Given the description of an element on the screen output the (x, y) to click on. 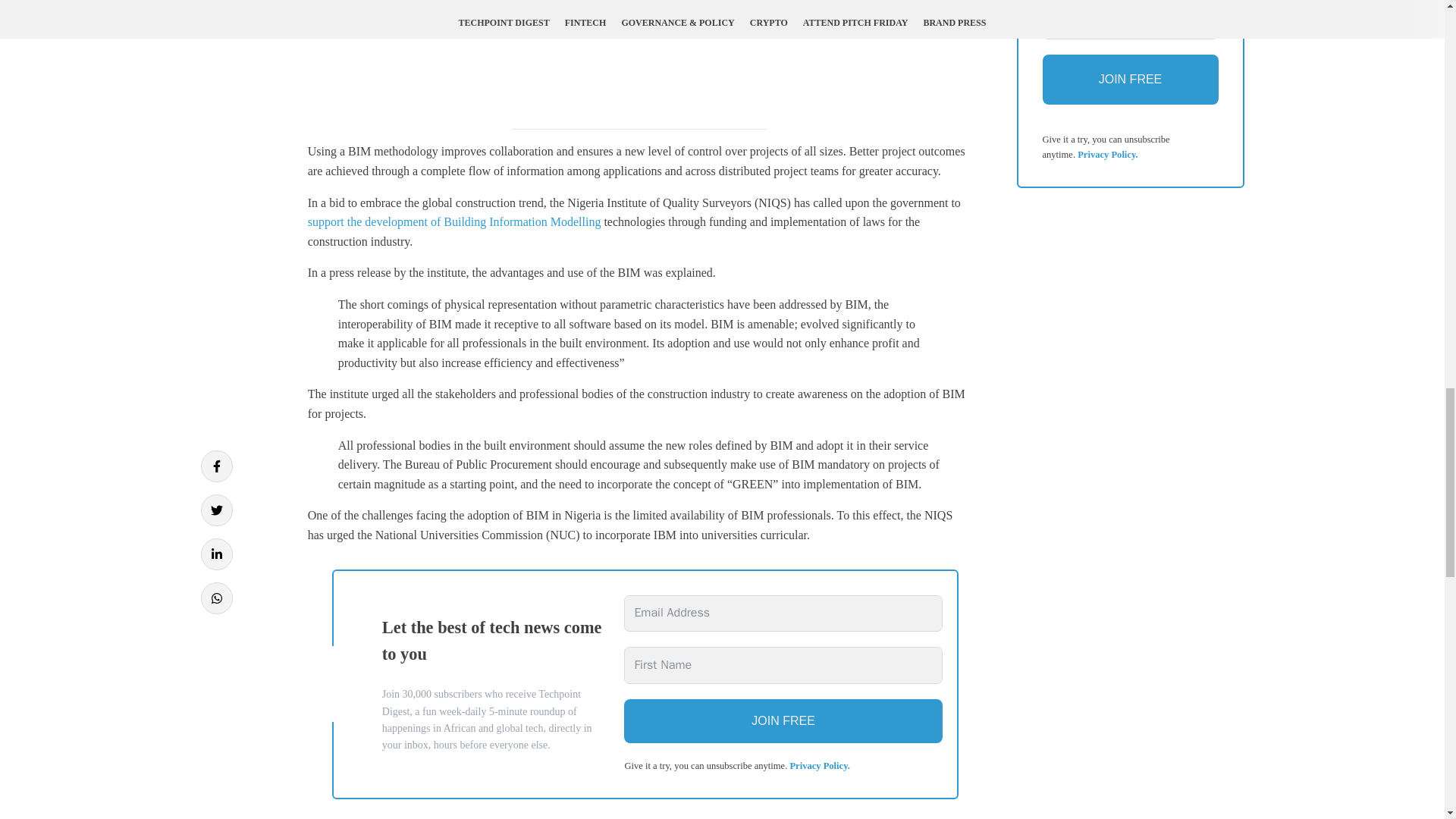
JOIN FREE (783, 720)
Privacy Policy. (818, 765)
support the development of Building Information Modelling (454, 221)
